Given the description of an element on the screen output the (x, y) to click on. 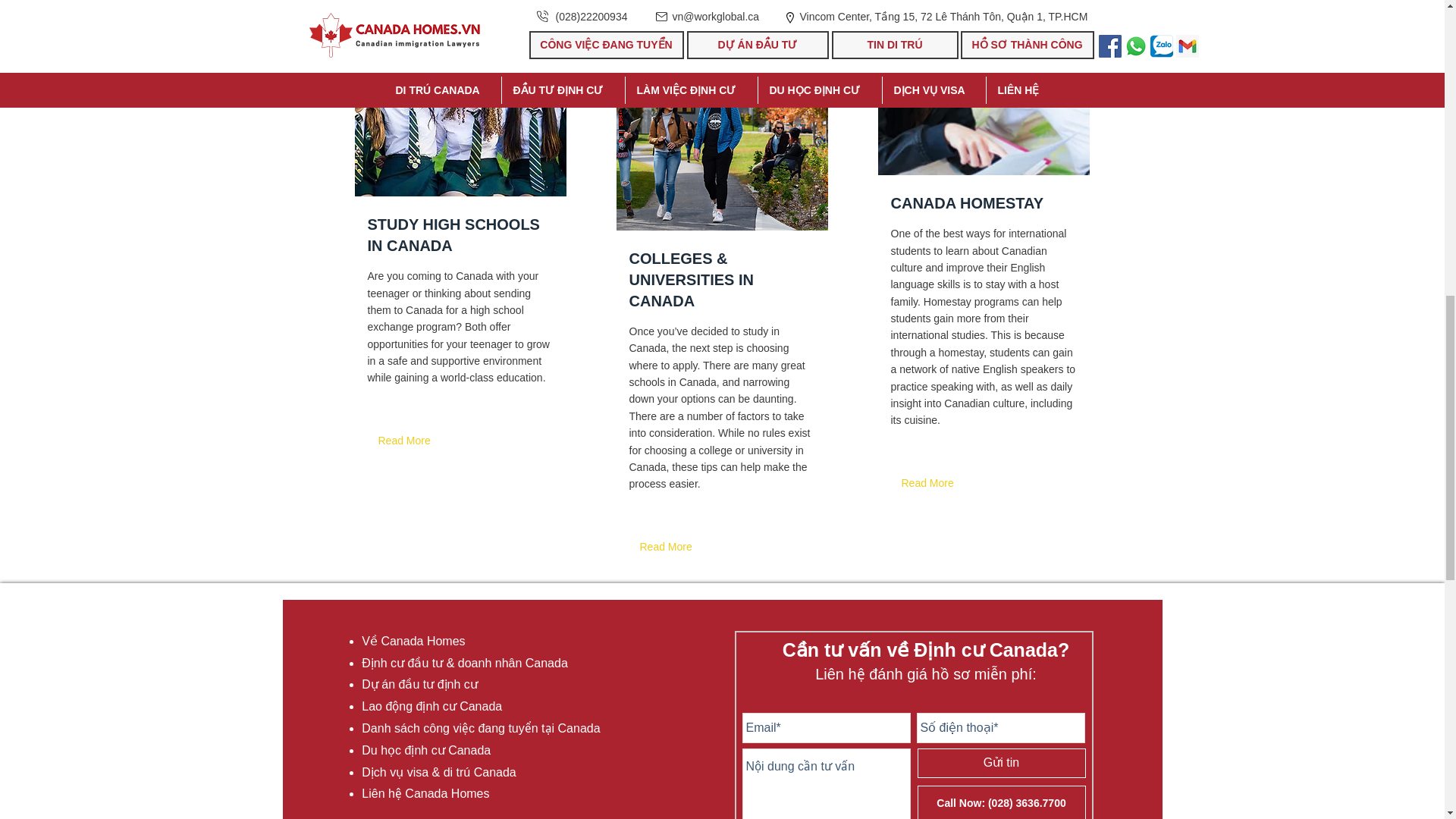
Read More (669, 546)
Read More (406, 440)
Untitled-design-7-2.png (721, 122)
pic04.jpg (983, 87)
5.jpg (460, 98)
Read More (930, 483)
